Given the description of an element on the screen output the (x, y) to click on. 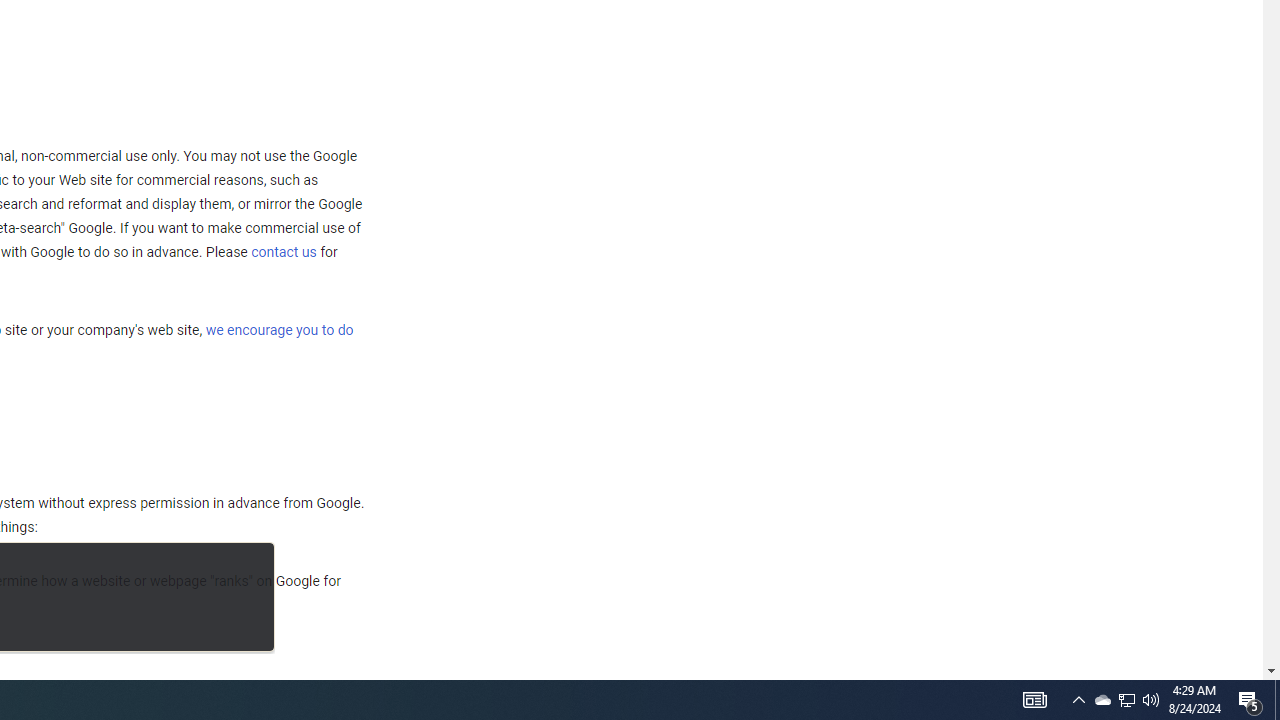
contact us (283, 251)
